Given the description of an element on the screen output the (x, y) to click on. 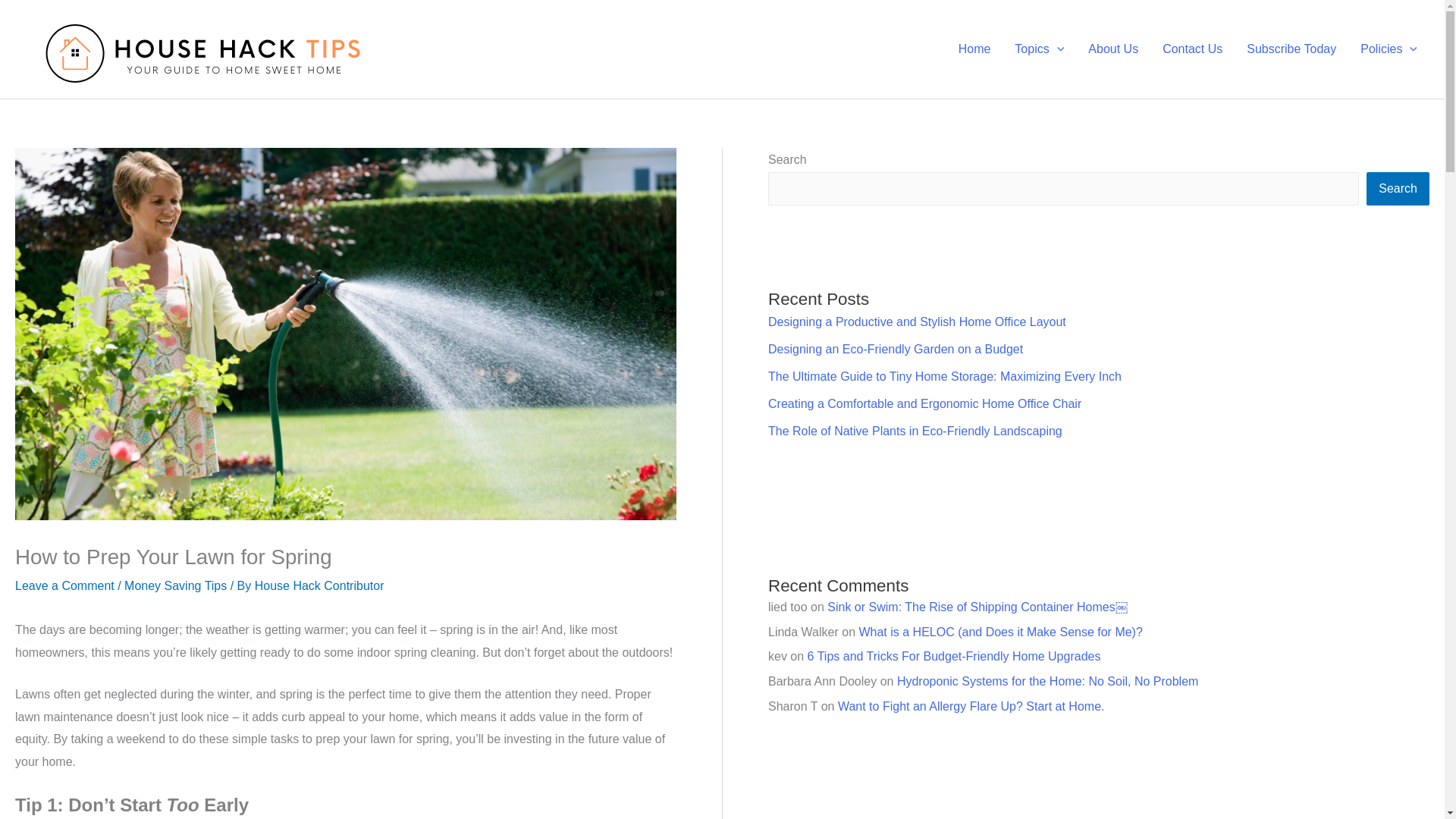
Contact Us (1192, 49)
Policies (1388, 49)
About Us (1112, 49)
Home (974, 49)
View all posts by House Hack Contributor (319, 585)
Subscribe Today (1291, 49)
Topics (1039, 49)
